Given the description of an element on the screen output the (x, y) to click on. 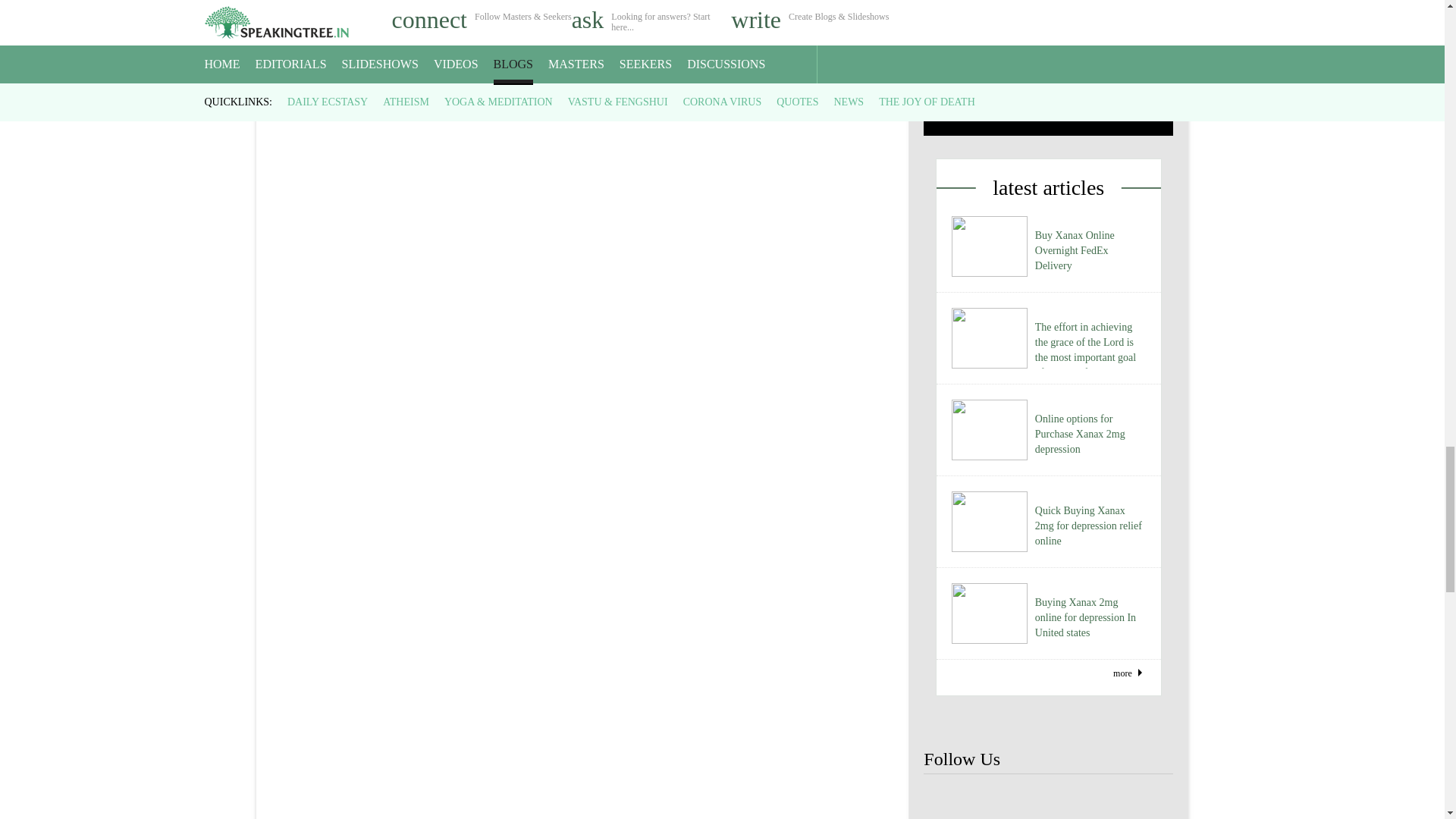
Speaking Tree FaceBook (998, 800)
Speaking Tree FaceBook (1099, 800)
Speaking Tree FaceBook (1147, 800)
Speaking Tree FaceBook (948, 800)
Speaking Tree FaceBook (1048, 800)
